Given the description of an element on the screen output the (x, y) to click on. 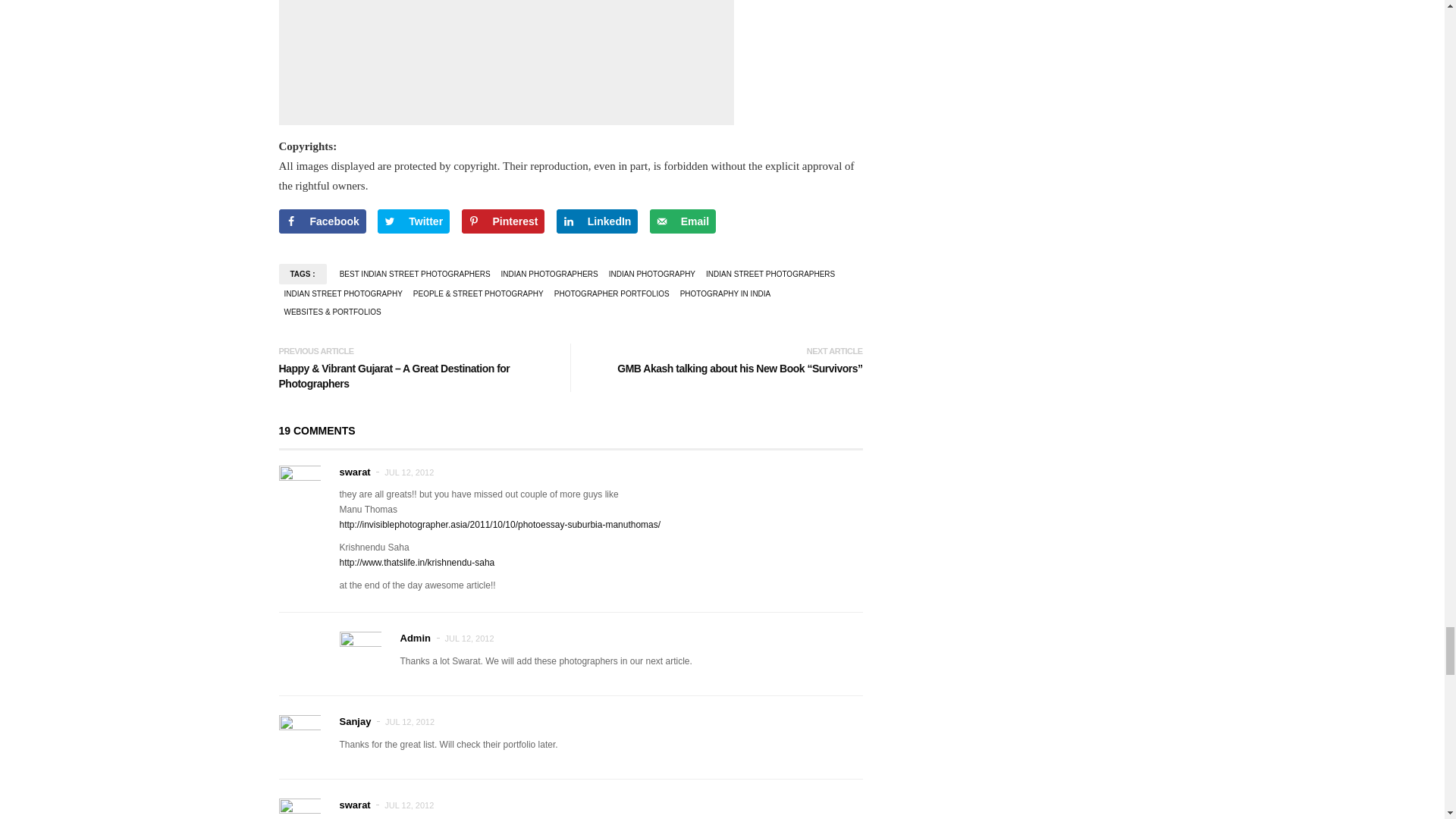
Save to Pinterest (502, 221)
Share on Twitter (413, 221)
Send over email (682, 221)
Share on LinkedIn (597, 221)
Share on Facebook (322, 221)
